Given the description of an element on the screen output the (x, y) to click on. 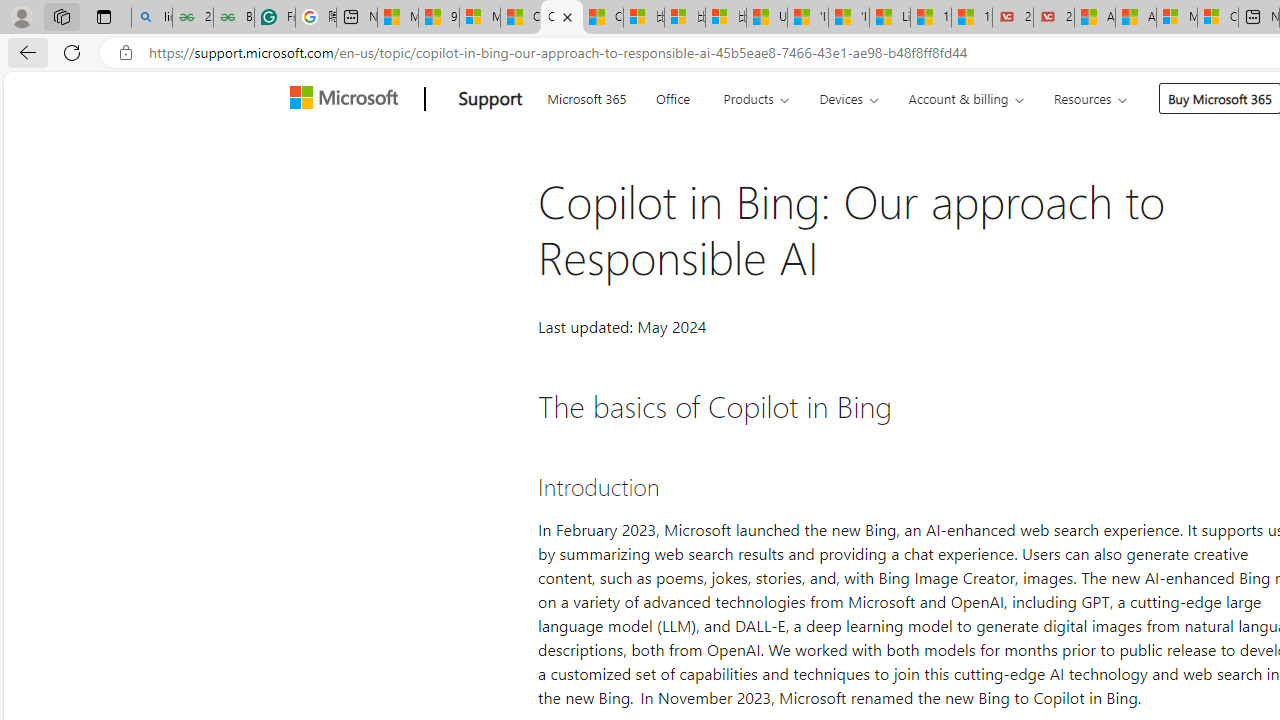
Best SSL Certificates Provider in India - GeeksforGeeks (233, 17)
Office (672, 96)
